Given the description of an element on the screen output the (x, y) to click on. 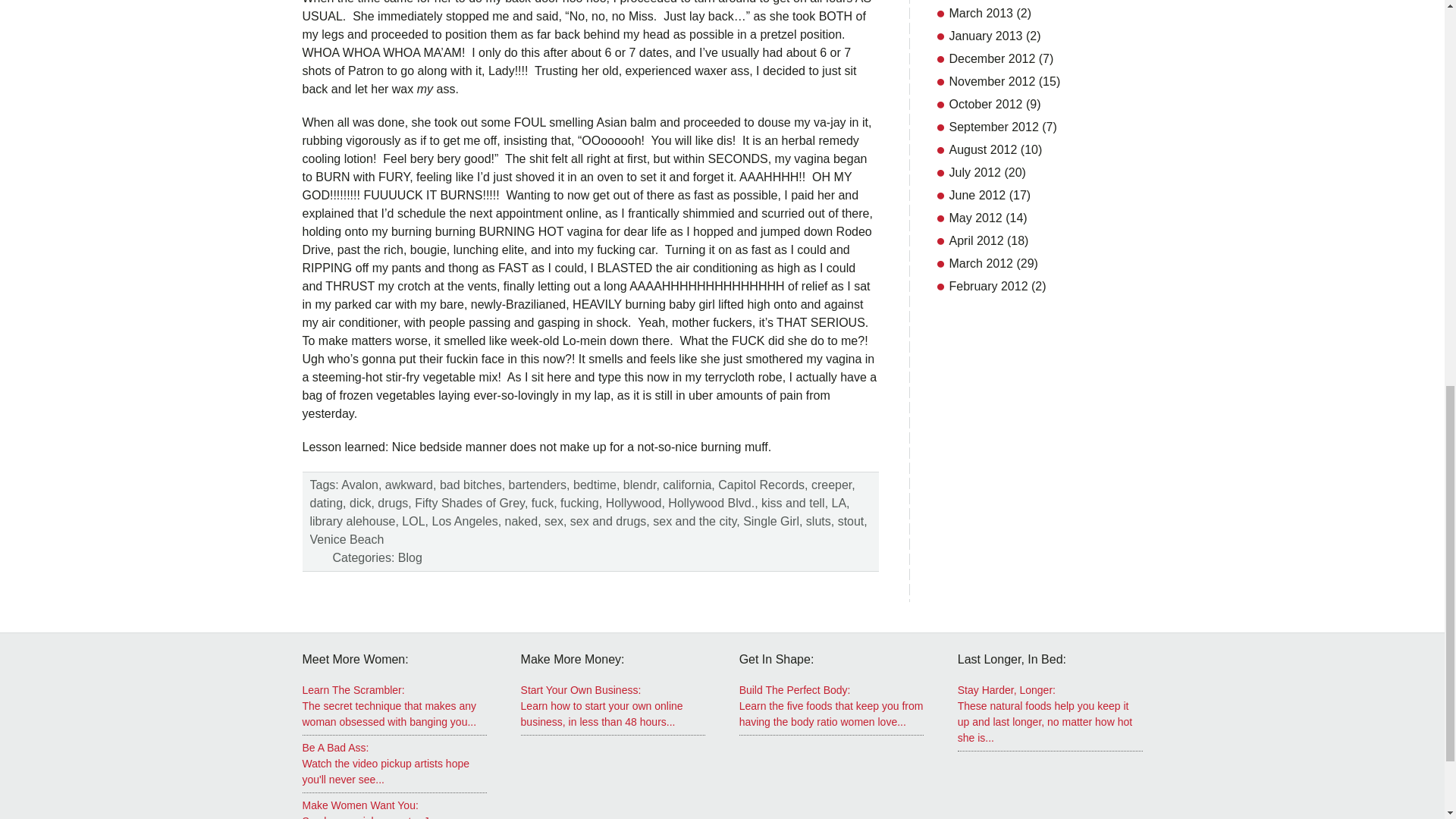
LOL (413, 521)
sex and drugs (608, 521)
naked (521, 521)
fucking (579, 502)
Avalon (359, 484)
Hollywood Blvd. (711, 502)
blendr (639, 484)
drugs (392, 502)
sluts (818, 521)
creeper (830, 484)
